Given the description of an element on the screen output the (x, y) to click on. 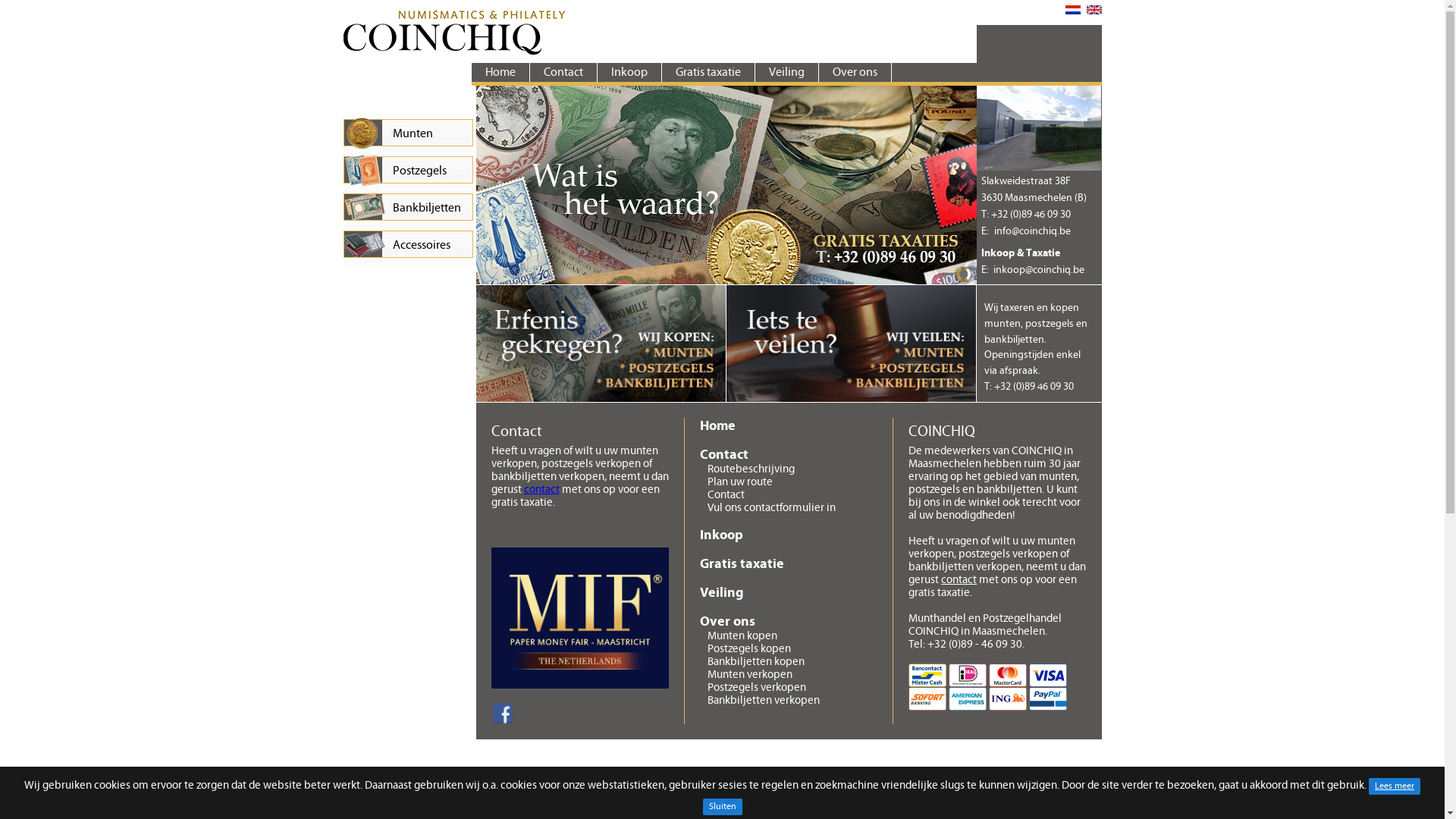
contact Element type: text (958, 579)
Postzegels kopen Element type: text (748, 648)
Munten kopen Element type: text (742, 635)
Inkoop Element type: text (629, 71)
Lees meer Element type: text (1394, 786)
Routebeschrijving Element type: text (750, 468)
contact Element type: text (540, 489)
Mastercard Element type: hover (1007, 675)
Gratis taxatie Element type: hover (726, 184)
info@coinchiq.be Element type: text (1032, 231)
Sluiten Element type: text (721, 806)
Postzegels verkopen Element type: text (756, 686)
Over ons Element type: text (788, 621)
Bankbiljetten kopen Element type: text (755, 661)
Bankcontact Element type: hover (927, 675)
Home Element type: text (788, 425)
Contact Element type: text (788, 454)
Over ons Element type: text (854, 71)
Bankbiljetten verkopen Element type: text (763, 699)
Veiling Element type: text (788, 592)
Plan uw route Element type: text (739, 481)
Contact Element type: text (725, 494)
Inkoop Element type: text (788, 534)
Veiling Element type: text (786, 71)
Gratis taxatie Element type: text (788, 563)
Accessoires Element type: text (407, 243)
Munten verkopen Element type: text (749, 674)
PayPal Element type: hover (1047, 698)
Home Element type: text (500, 71)
Sofort Element type: hover (927, 698)
Postzegels Element type: text (407, 169)
Contact Element type: text (562, 71)
American Express Element type: hover (967, 698)
Munten Element type: text (407, 132)
inkoop@coinchiq.be Element type: text (1038, 269)
ING Element type: hover (1007, 698)
Visa Element type: hover (1047, 675)
Bankbiljetten Element type: text (407, 206)
Gratis taxatie Element type: hover (726, 280)
Ideal Element type: hover (967, 675)
Vul ons contactformulier in Element type: text (771, 507)
Gratis taxatie Element type: text (707, 71)
